Given the description of an element on the screen output the (x, y) to click on. 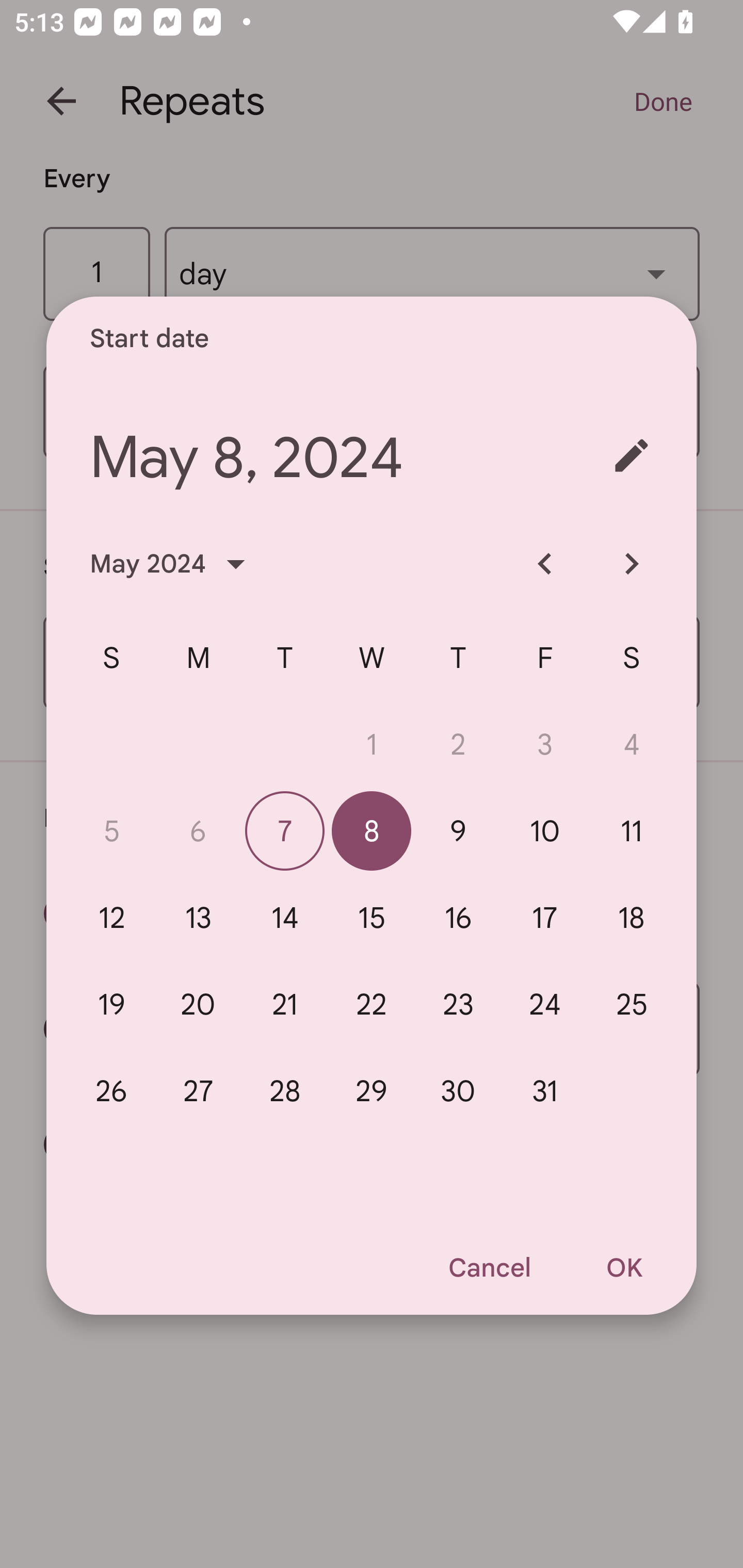
Switch to text input mode (631, 455)
May 2024 (173, 563)
Change to previous month (544, 563)
Change to next month (631, 563)
1 Wednesday, May 1 (371, 743)
2 Thursday, May 2 (457, 743)
3 Friday, May 3 (544, 743)
4 Saturday, May 4 (631, 743)
5 Sunday, May 5 (111, 830)
6 Monday, May 6 (197, 830)
7 Today Tuesday, May 7 (284, 830)
8 Wednesday, May 8 (371, 830)
9 Thursday, May 9 (457, 830)
10 Friday, May 10 (544, 830)
11 Saturday, May 11 (631, 830)
12 Sunday, May 12 (111, 917)
13 Monday, May 13 (197, 917)
14 Tuesday, May 14 (284, 917)
15 Wednesday, May 15 (371, 917)
16 Thursday, May 16 (457, 917)
17 Friday, May 17 (544, 917)
18 Saturday, May 18 (631, 917)
19 Sunday, May 19 (111, 1004)
20 Monday, May 20 (197, 1004)
21 Tuesday, May 21 (284, 1004)
22 Wednesday, May 22 (371, 1004)
23 Thursday, May 23 (457, 1004)
24 Friday, May 24 (544, 1004)
25 Saturday, May 25 (631, 1004)
26 Sunday, May 26 (111, 1090)
27 Monday, May 27 (197, 1090)
28 Tuesday, May 28 (284, 1090)
29 Wednesday, May 29 (371, 1090)
30 Thursday, May 30 (457, 1090)
31 Friday, May 31 (544, 1090)
Cancel (489, 1267)
OK (624, 1267)
